Given the description of an element on the screen output the (x, y) to click on. 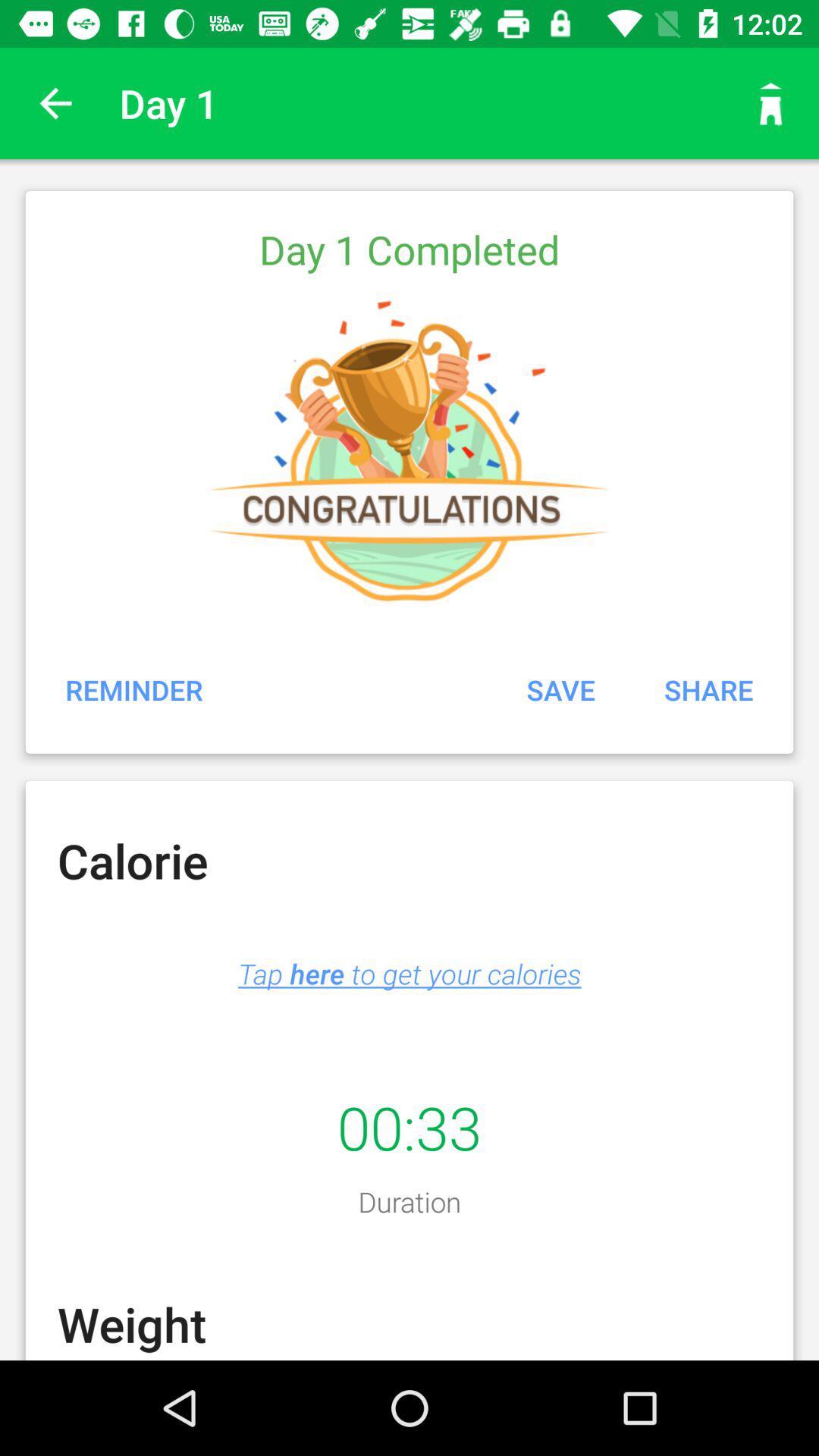
turn off the item to the right of day 1 icon (771, 103)
